Given the description of an element on the screen output the (x, y) to click on. 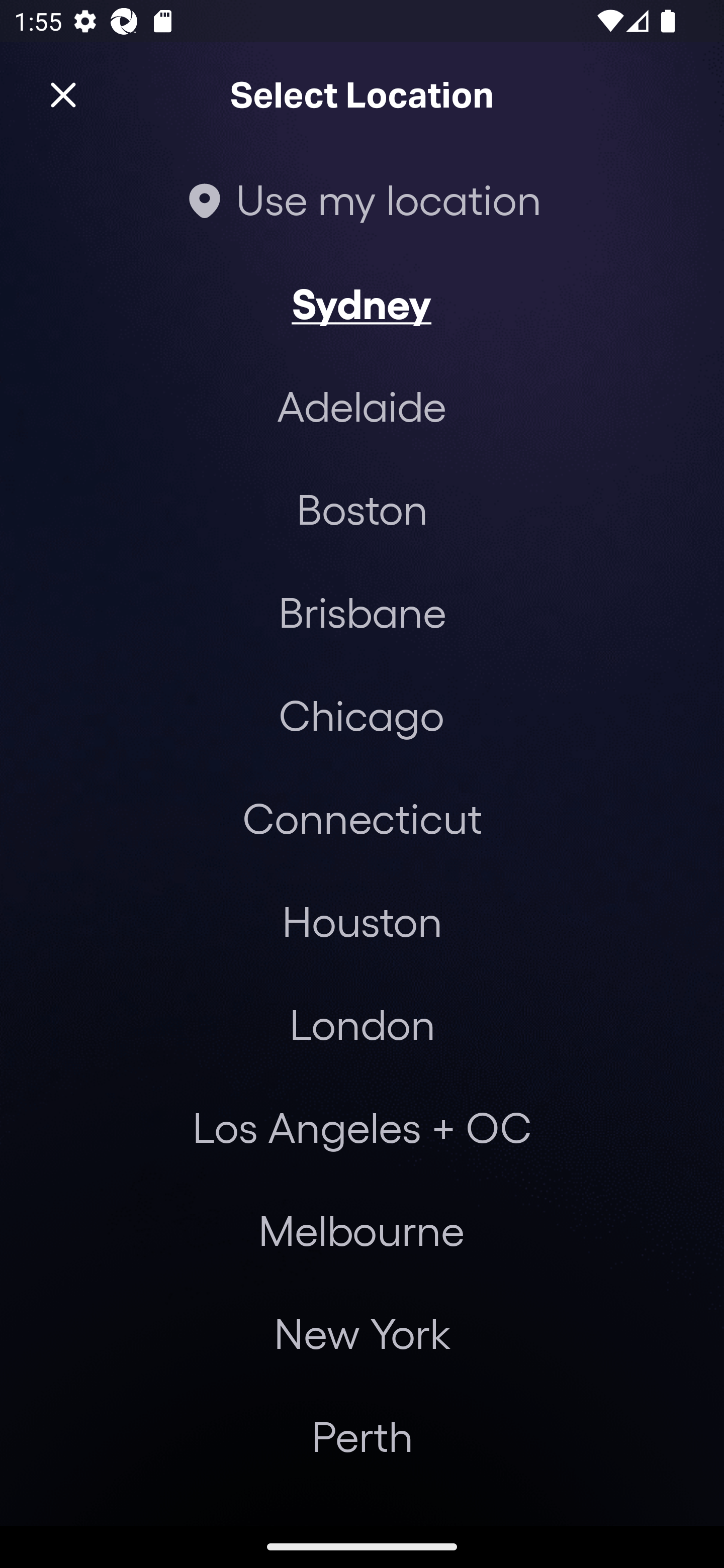
Close (62, 95)
   Use my location (362, 198)
Sydney (361, 302)
Adelaide (361, 405)
Boston (361, 508)
Brisbane (361, 611)
Chicago (361, 714)
Connecticut (361, 817)
Houston (361, 920)
London (361, 1023)
Los Angeles + OC (361, 1127)
Melbourne (361, 1230)
New York (361, 1332)
Perth (361, 1436)
